Given the description of an element on the screen output the (x, y) to click on. 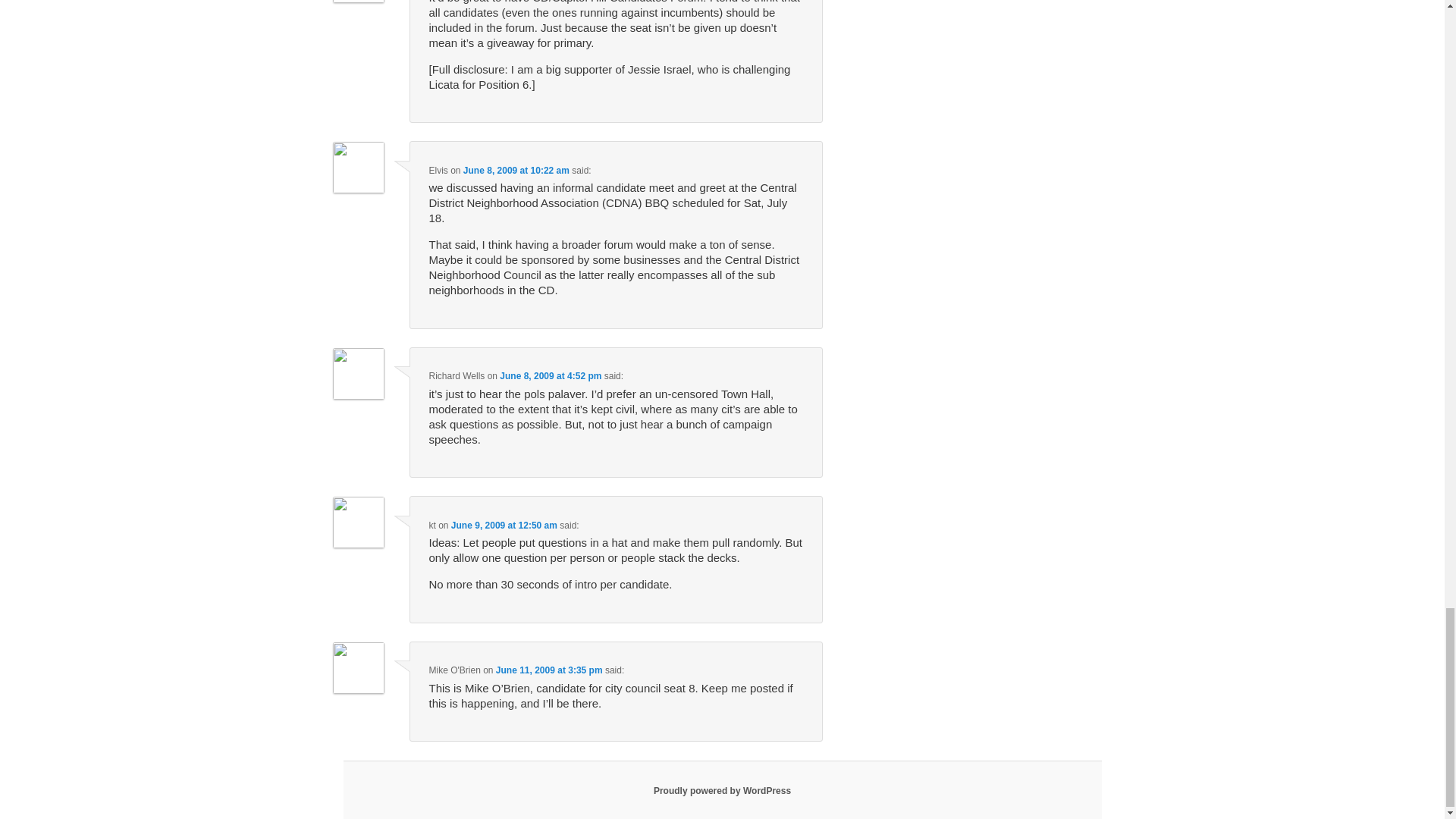
June 8, 2009 at 10:22 am (516, 170)
June 8, 2009 at 4:52 pm (550, 376)
June 11, 2009 at 3:35 pm (549, 670)
Semantic Personal Publishing Platform (721, 790)
June 9, 2009 at 12:50 am (504, 525)
